Given the description of an element on the screen output the (x, y) to click on. 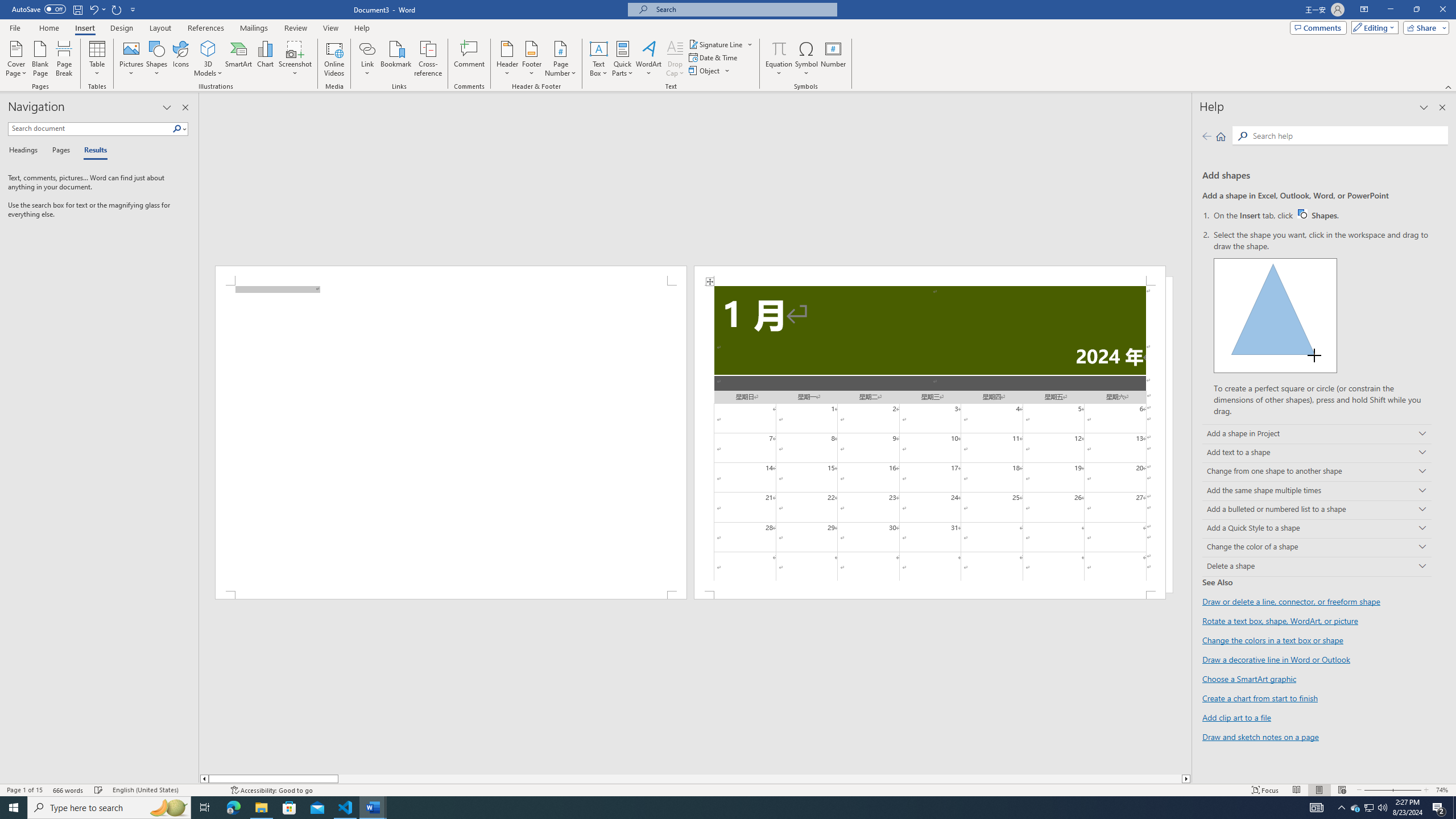
Insert (83, 28)
Mode (1372, 27)
Date & Time... (714, 56)
Close (1442, 9)
Draw a decorative line in Word or Outlook (1275, 659)
Headings (25, 150)
Blank Page (40, 58)
Link (367, 58)
Symbol (806, 58)
3D Models (208, 48)
Language English (United States) (165, 790)
Create a chart from start to finish (1259, 697)
Bookmark... (396, 58)
